Given the description of an element on the screen output the (x, y) to click on. 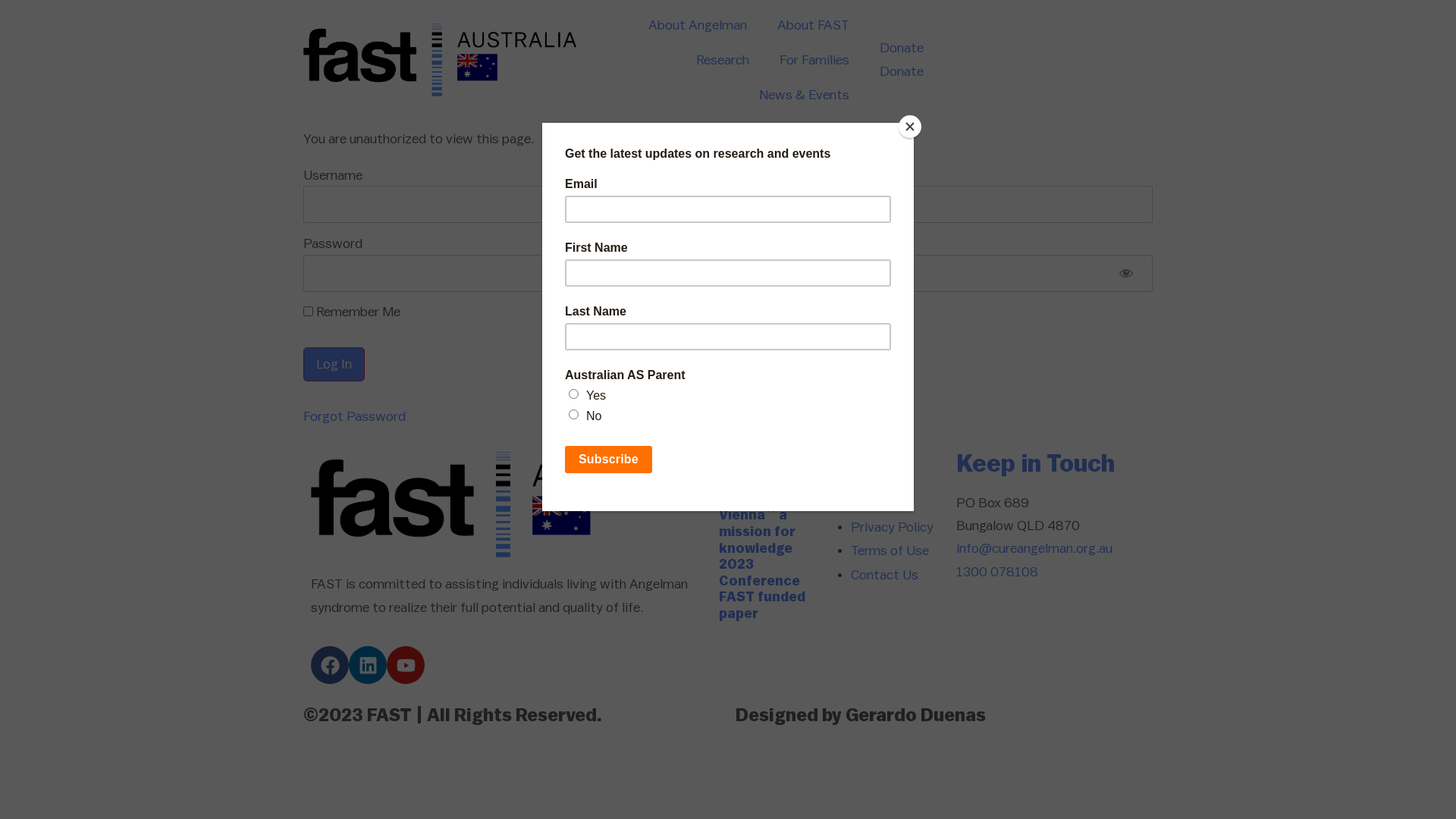
Terms of Use Element type: text (889, 550)
2023 Conference Element type: text (759, 572)
About FAST Element type: text (813, 24)
FAST funded paper Element type: text (761, 604)
Research Element type: text (722, 59)
info@cureangelman.org.au Element type: text (1034, 548)
For Families Element type: text (814, 59)
News & Events Element type: text (803, 94)
Privacy Policy Element type: text (891, 526)
Designed by Gerardo Duenas Element type: text (860, 715)
Log In Element type: text (333, 364)
1300 078108 Element type: text (997, 571)
Contact Us Element type: text (884, 574)
Notes from Vienna ~ a mission for knowledge Element type: text (757, 523)
About Angelman Element type: text (697, 24)
Forgot Password Element type: text (354, 416)
Donate
Donate Element type: text (1015, 60)
